Given the description of an element on the screen output the (x, y) to click on. 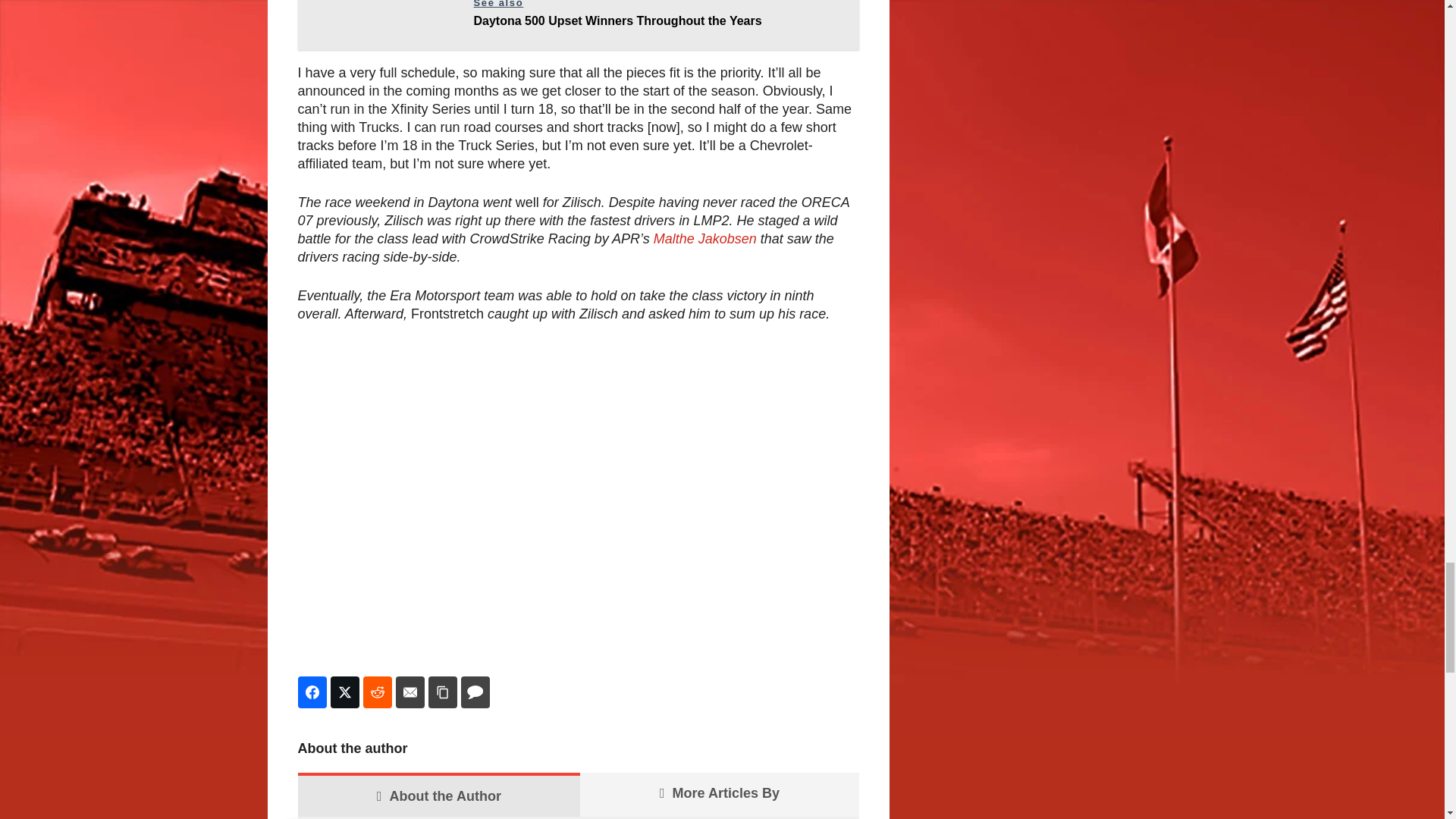
Share on Comments (475, 692)
Share on Copy Link (442, 692)
Malthe Jakobsen (705, 238)
Share on Email (410, 692)
Share on Twitter (344, 692)
Share on Facebook (311, 692)
Share on Reddit (376, 692)
